Given the description of an element on the screen output the (x, y) to click on. 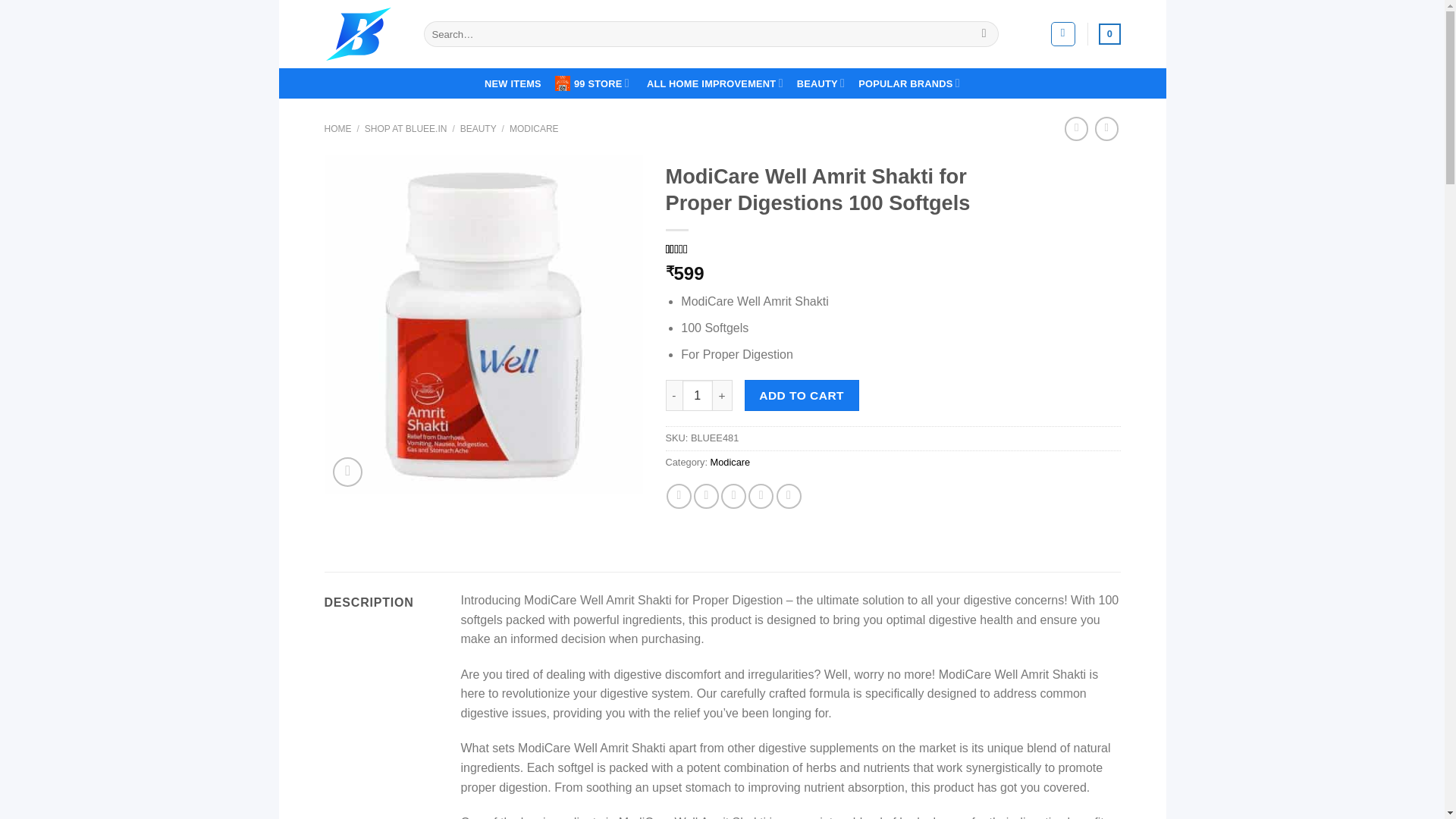
Modicare (730, 461)
Share on Facebook (678, 496)
NEW ITEMS (512, 83)
3 customer reviews (695, 249)
99 STORE (593, 82)
SHOP AT BLUEE.IN (405, 128)
BEAUTY (478, 128)
BEAUTY (820, 82)
MODICARE (534, 128)
Bluee - Find it. Love it. Buy it. (362, 33)
1 (697, 395)
ALL HOME IMPROVEMENT (714, 82)
HOME (338, 128)
ADD TO CART (801, 395)
